Given the description of an element on the screen output the (x, y) to click on. 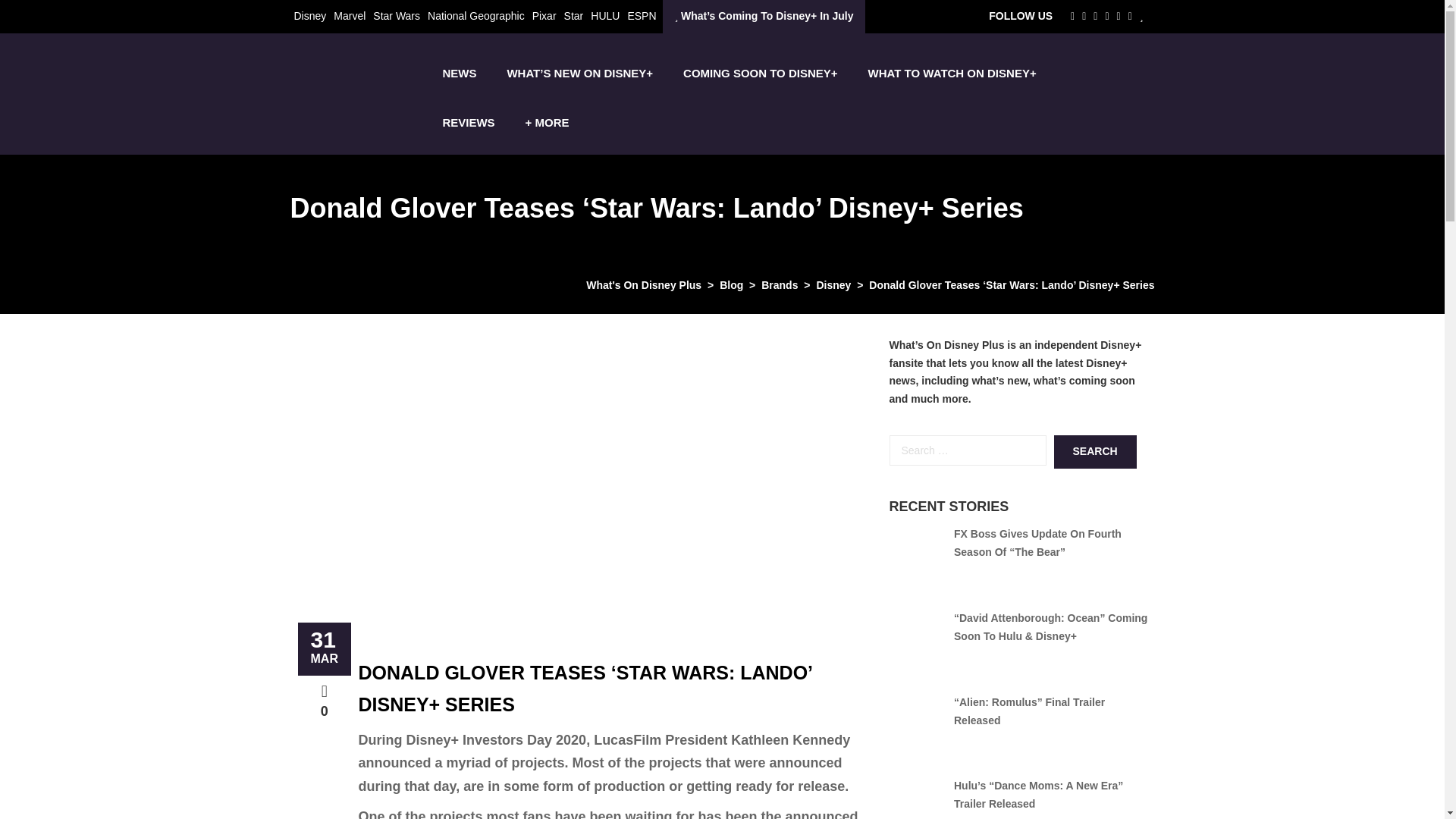
Go to Blog. (730, 285)
Disney (310, 15)
Star (573, 15)
National Geographic (476, 15)
ESPN (641, 15)
REVIEWS (467, 122)
Go to What's On Disney Plus. (643, 285)
Marvel (349, 15)
Pixar (544, 15)
Go to the Brands Category archives. (779, 285)
Search (1095, 451)
HULU (605, 15)
Star Wars (396, 15)
NEWS (459, 72)
Go to the Disney Category archives. (832, 285)
